Given the description of an element on the screen output the (x, y) to click on. 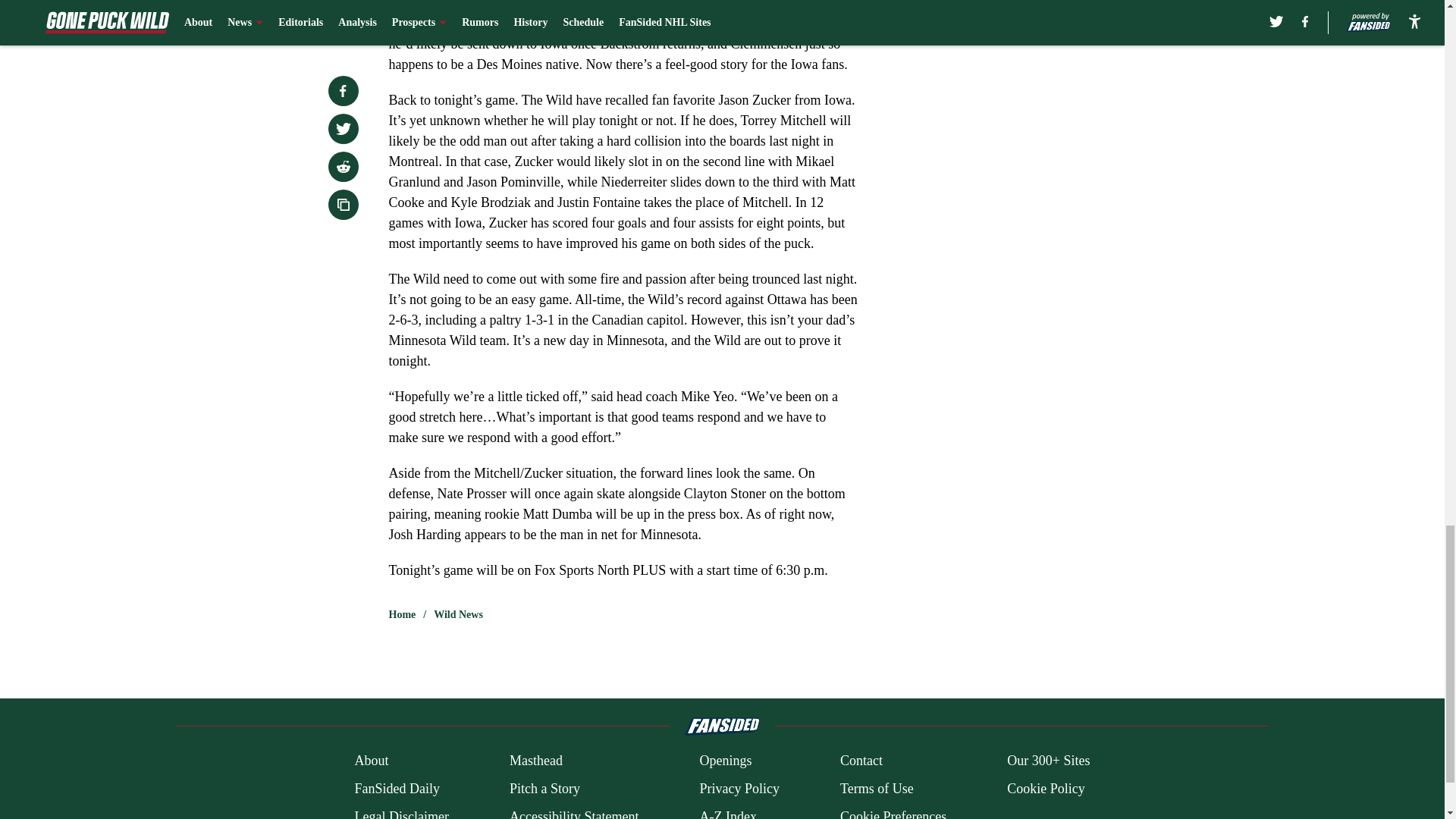
Masthead (535, 761)
Openings (724, 761)
Terms of Use (877, 788)
Cookie Policy (1045, 788)
Cookie Preferences (893, 812)
Privacy Policy (738, 788)
Accessibility Statement (574, 812)
About (370, 761)
Wild News (458, 614)
Pitch a Story (544, 788)
Contact (861, 761)
Legal Disclaimer (400, 812)
Home (401, 614)
FanSided Daily (396, 788)
A-Z Index (726, 812)
